Given the description of an element on the screen output the (x, y) to click on. 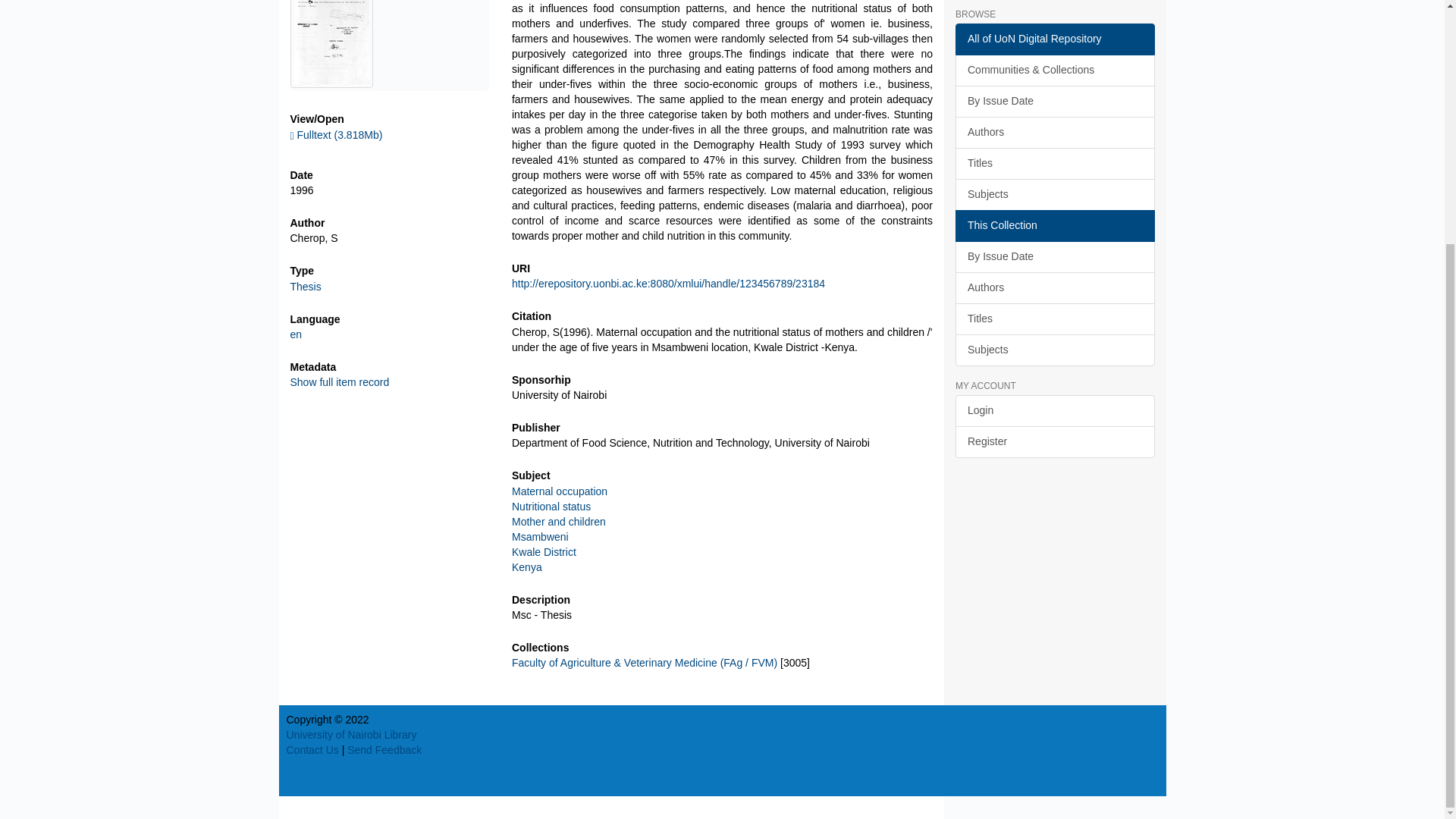
Mother and children (558, 521)
Msambweni (540, 536)
By Issue Date (1054, 101)
Thesis (304, 286)
en (295, 334)
Nutritional status (551, 506)
Titles (1054, 163)
Authors (1054, 132)
All of UoN Digital Repository (1054, 39)
Maternal occupation (559, 491)
Kwale District (544, 551)
Show full item record (338, 381)
Kenya (526, 567)
